Given the description of an element on the screen output the (x, y) to click on. 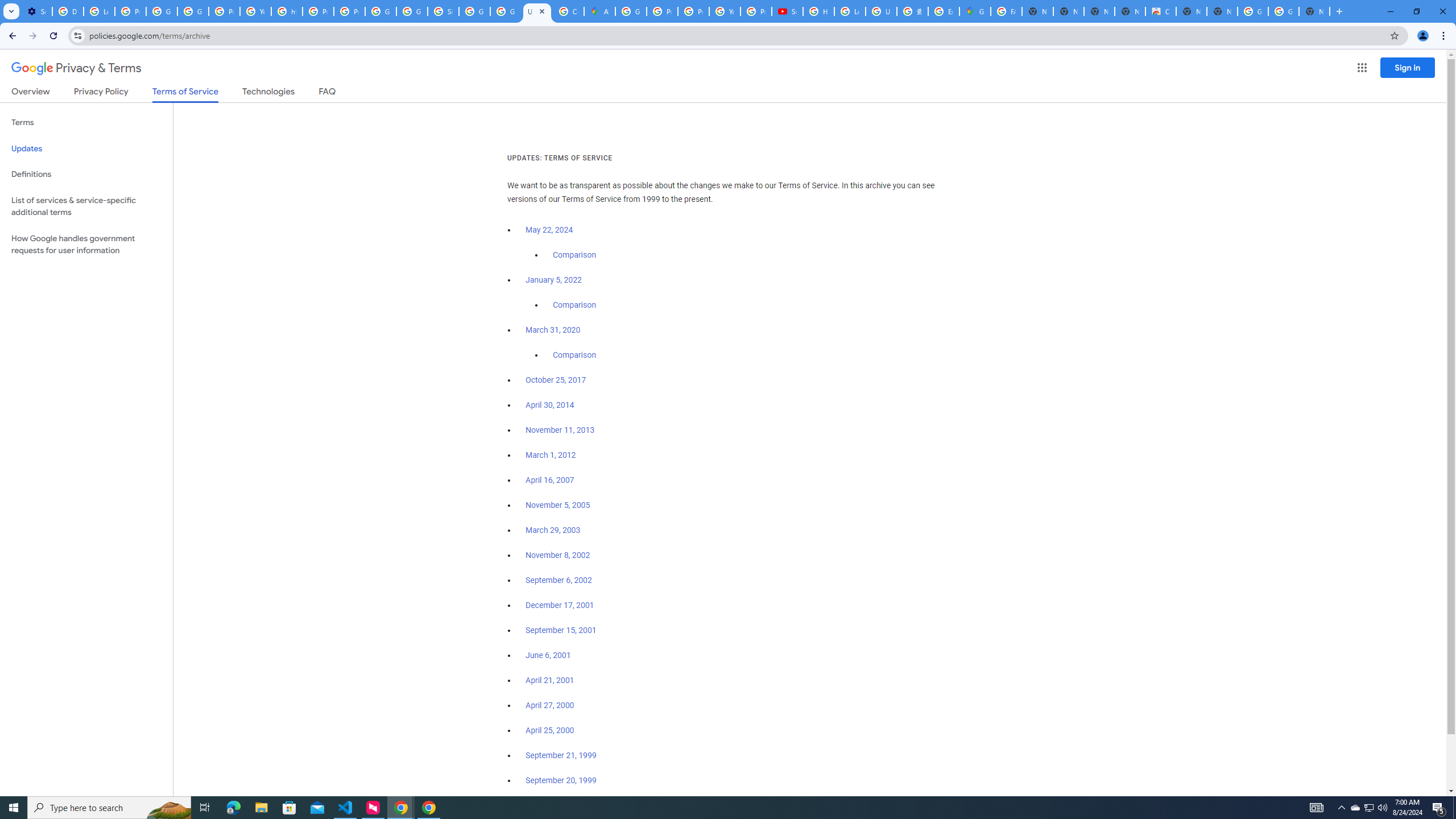
Sign in (1407, 67)
December 17, 2001 (559, 605)
Google Images (1283, 11)
Explore new street-level details - Google Maps Help (943, 11)
June 6, 2001 (547, 655)
September 15, 2001 (560, 629)
Google Account Help (161, 11)
Sign in - Google Accounts (443, 11)
Privacy Help Center - Policies Help (693, 11)
Privacy Help Center - Policies Help (662, 11)
